Given the description of an element on the screen output the (x, y) to click on. 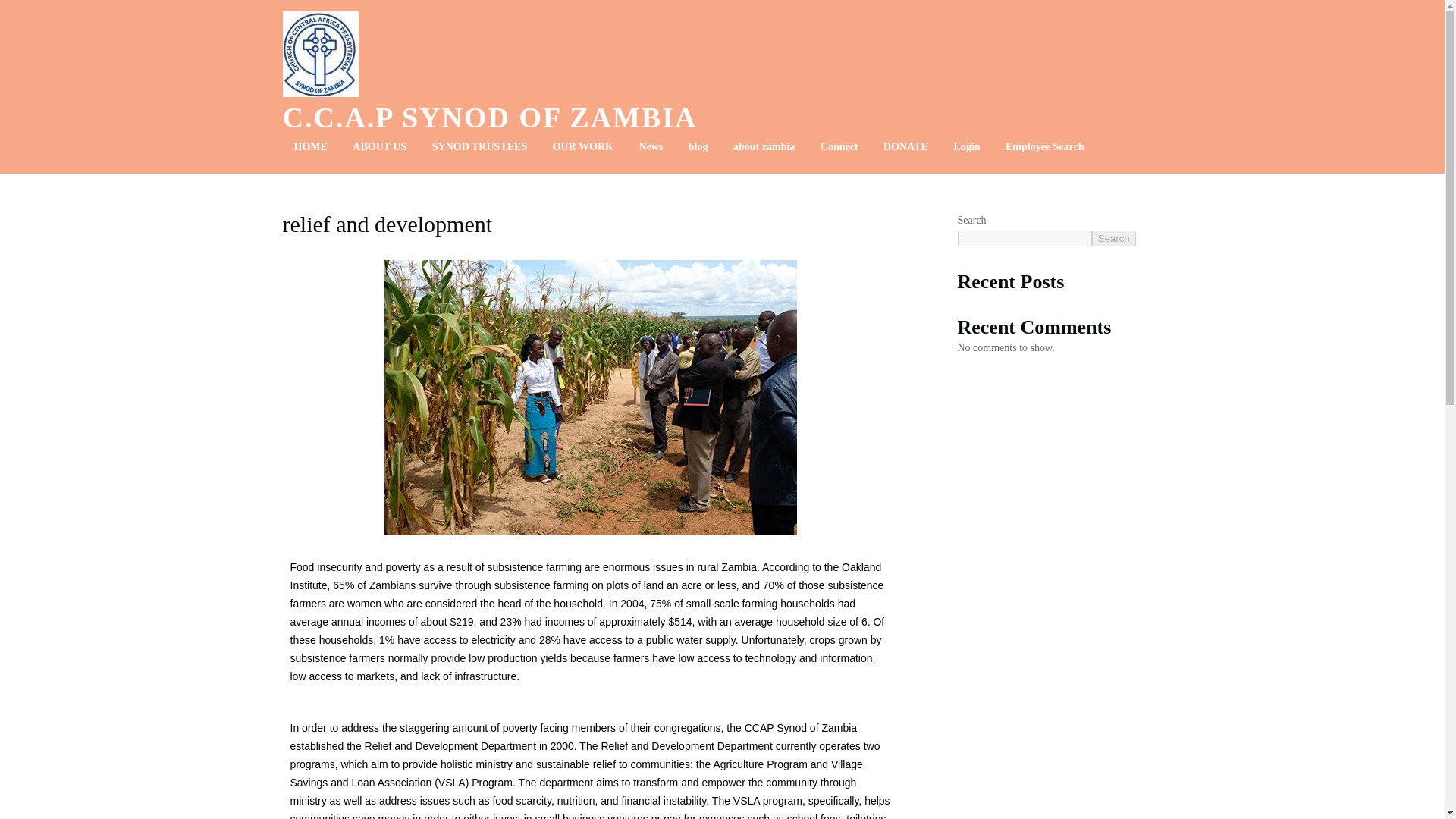
ABOUT US (378, 146)
HOME (309, 146)
SYNOD TRUSTEES (479, 146)
OUR WORK (582, 146)
C.C.A.P SYNOD OF ZAMBIA (489, 117)
